Given the description of an element on the screen output the (x, y) to click on. 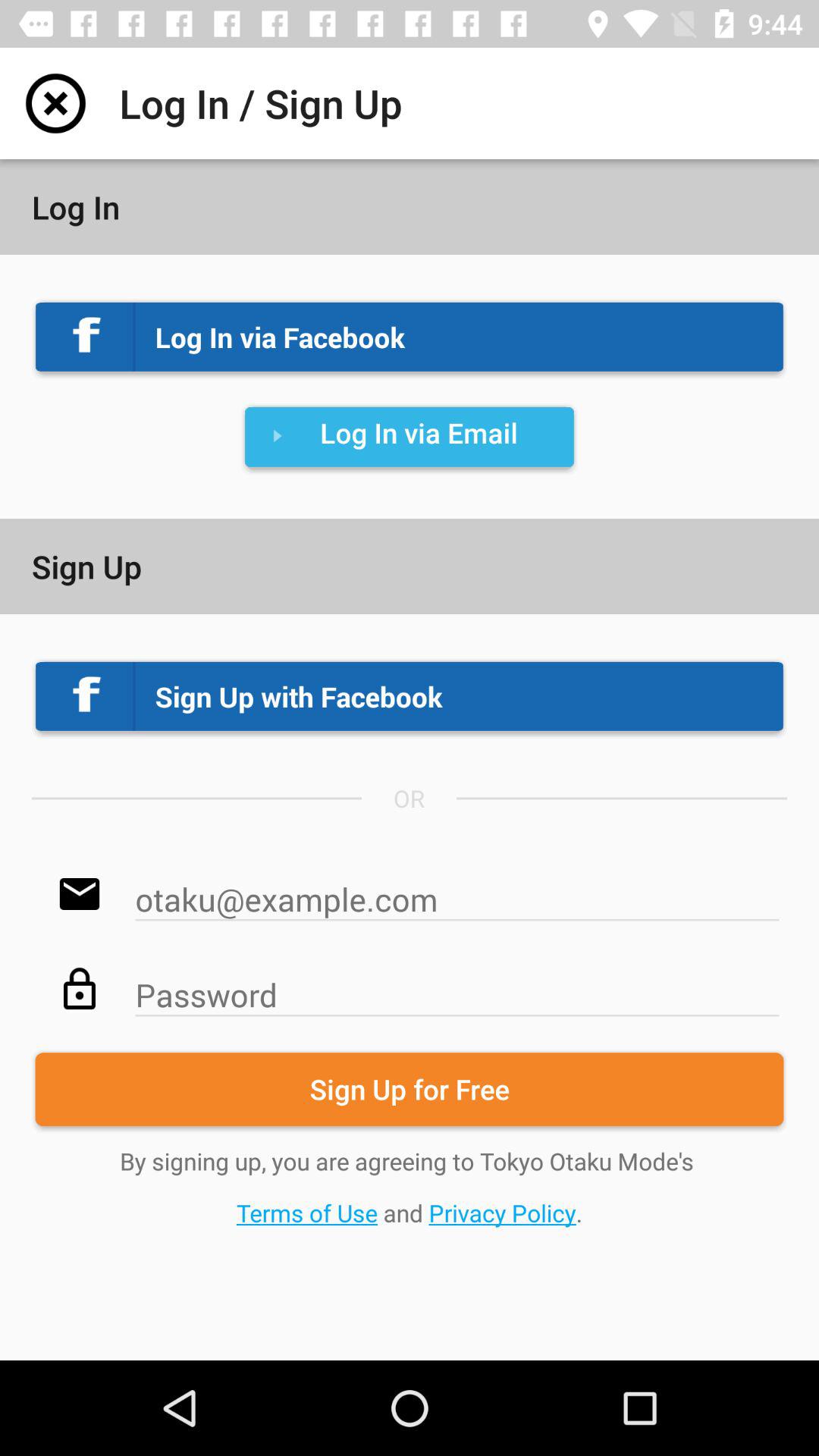
tap item below sign up for item (409, 1186)
